Given the description of an element on the screen output the (x, y) to click on. 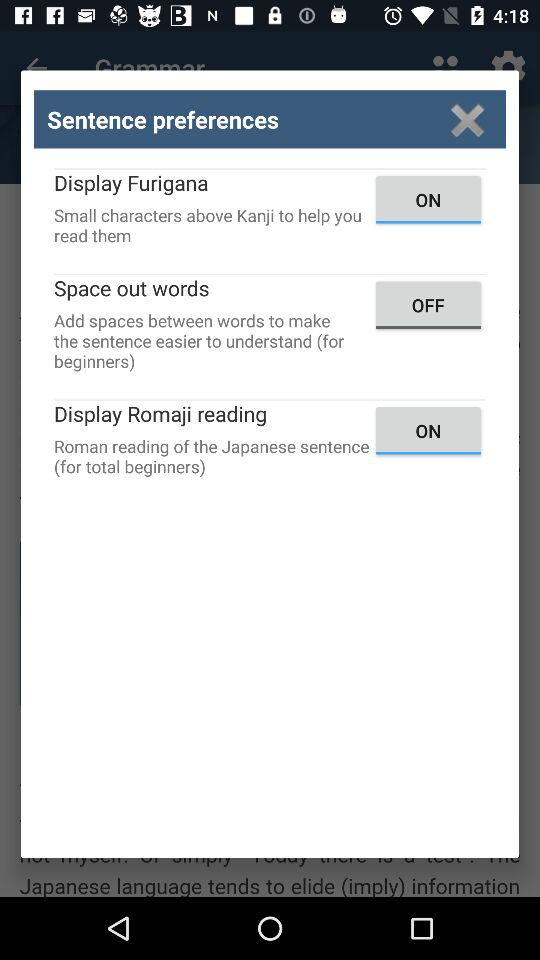
deselect sentence preferences (467, 119)
